Given the description of an element on the screen output the (x, y) to click on. 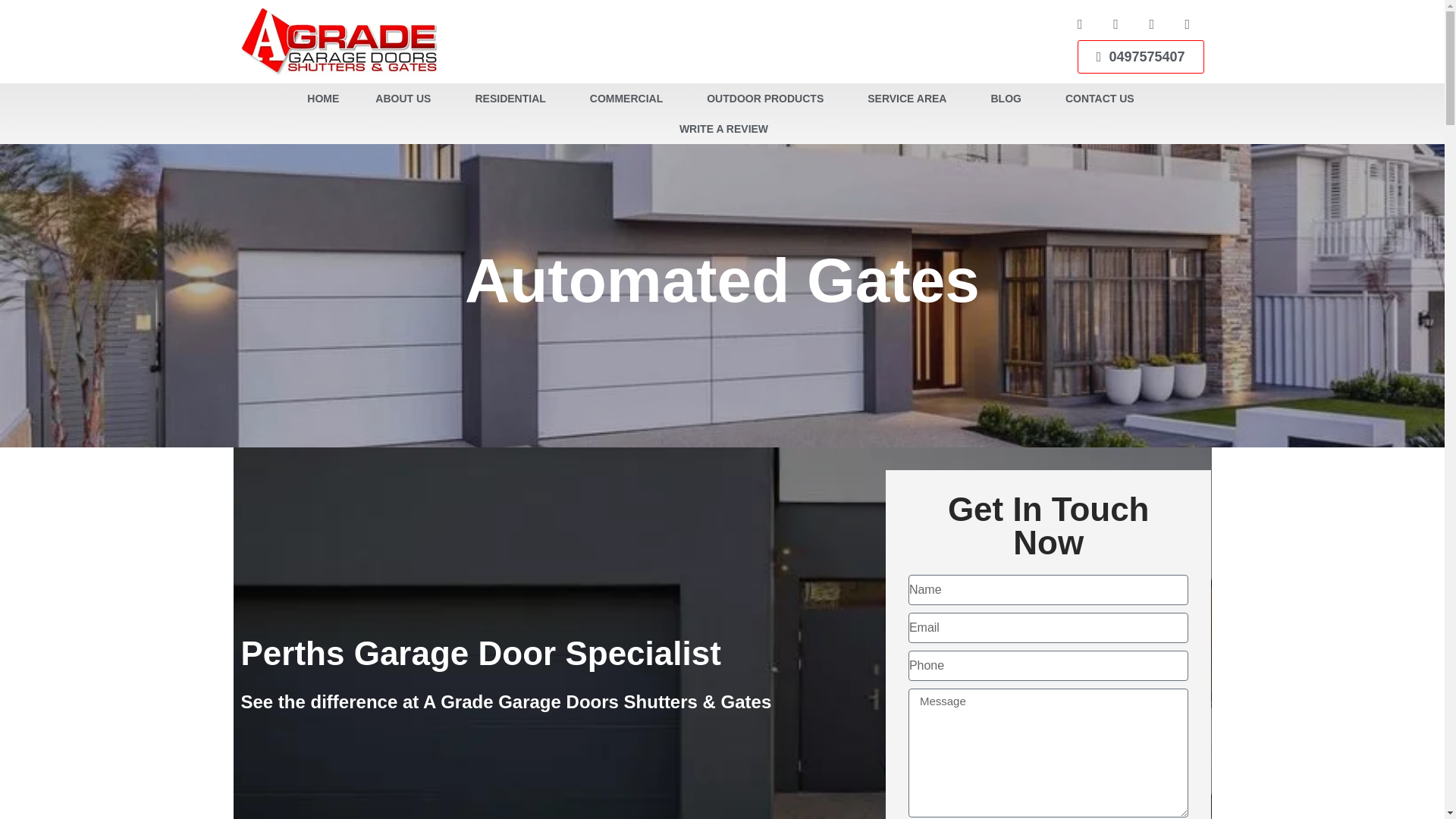
0497575407 (1140, 32)
Automated Gates (722, 280)
ABOUT US (611, 98)
COMMERCIAL (630, 98)
RESIDENTIAL (532, 98)
HOME (575, 98)
OUTDOOR PRODUCTS (768, 98)
Skip to content (15, 7)
